Given the description of an element on the screen output the (x, y) to click on. 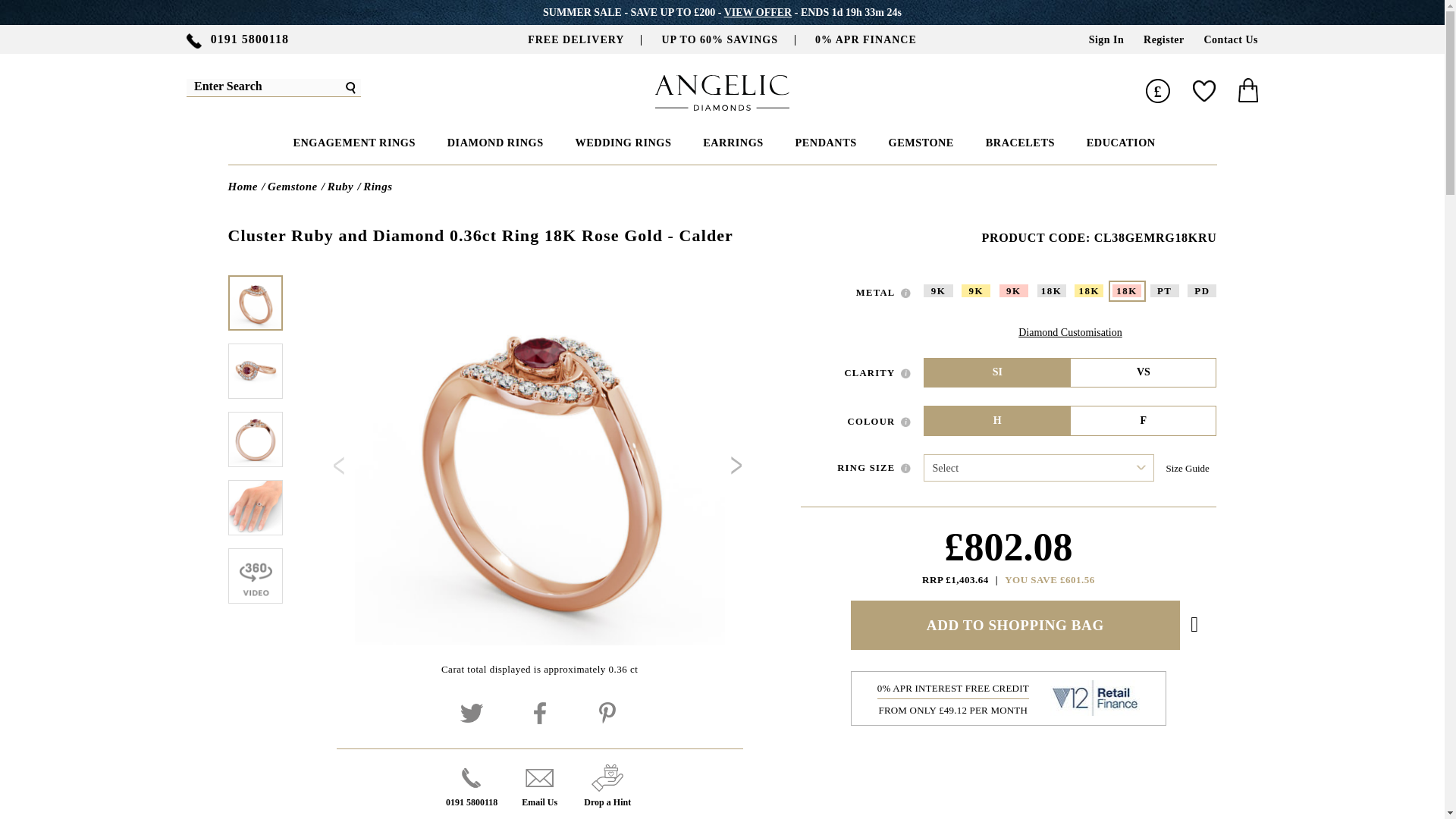
Contact Us (1231, 39)
VIEW OUR OFFER (757, 11)
VIEW OFFER (757, 11)
Contact Us (1231, 39)
Sign In (1106, 39)
Register (1163, 39)
Register (1163, 39)
Sign In (1106, 39)
Submit (350, 87)
Angelic Diamonds (722, 106)
ENGAGEMENT RINGS (352, 142)
ENGAGEMENT RINGS (352, 142)
